Given the description of an element on the screen output the (x, y) to click on. 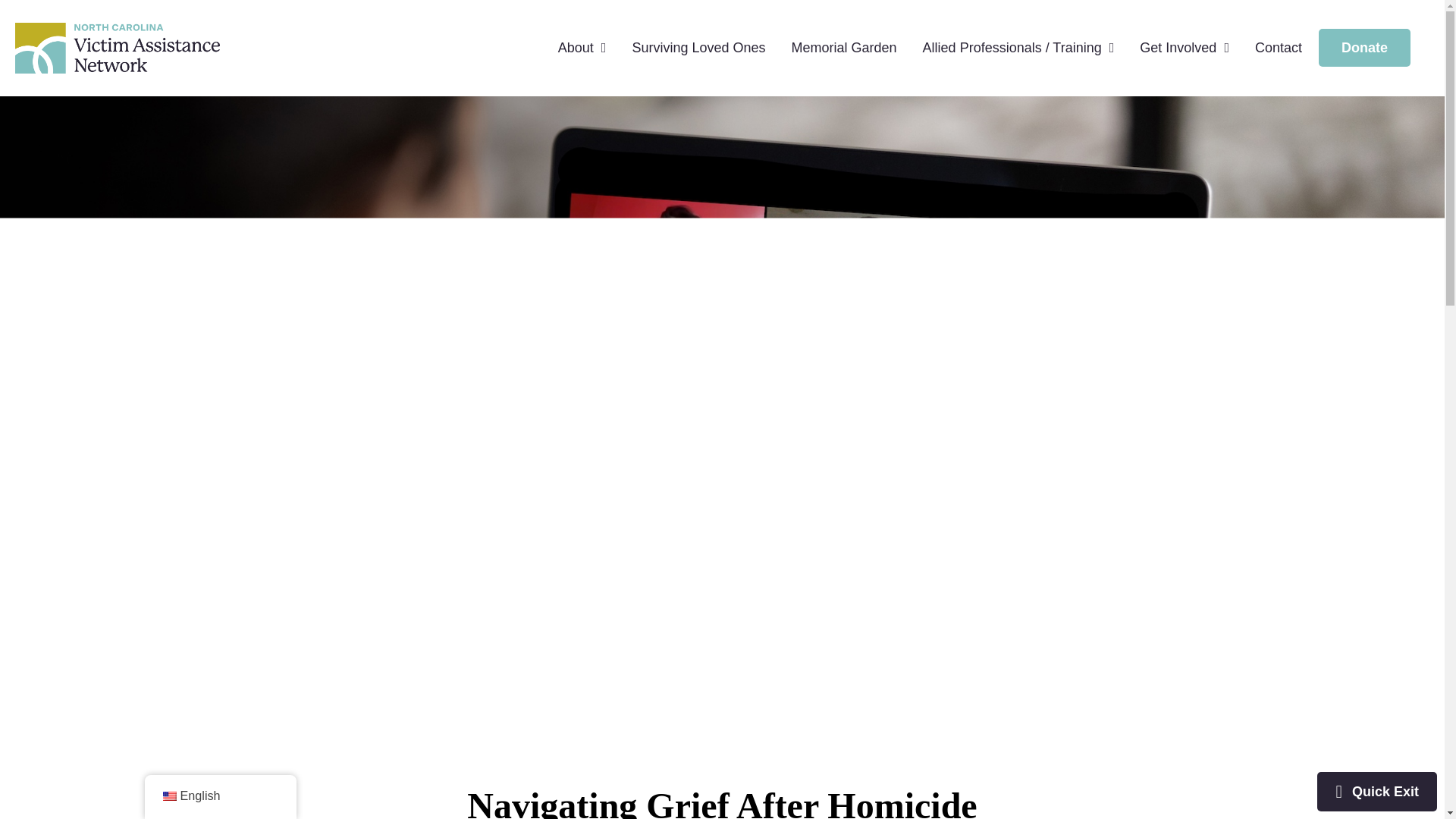
English (168, 795)
About (581, 47)
Donate (1364, 47)
Surviving Loved Ones (698, 47)
Get Involved (1185, 47)
Memorial Garden (844, 47)
Contact (1278, 47)
